Given the description of an element on the screen output the (x, y) to click on. 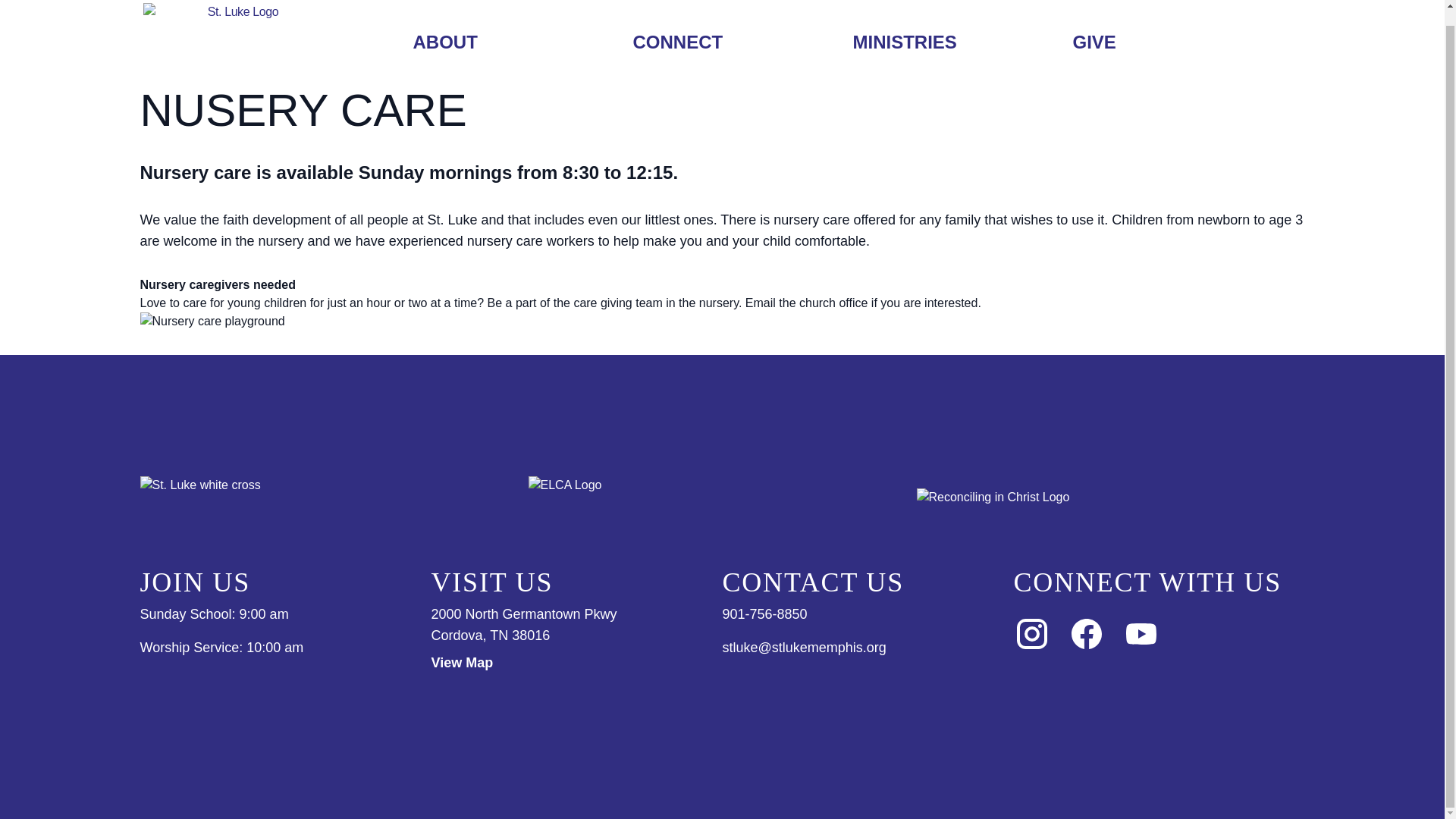
View Map (576, 662)
GIVE (1092, 26)
901-756-8850 (764, 613)
ABOUT (444, 26)
MINISTRIES (904, 26)
CONNECT (677, 26)
